Given the description of an element on the screen output the (x, y) to click on. 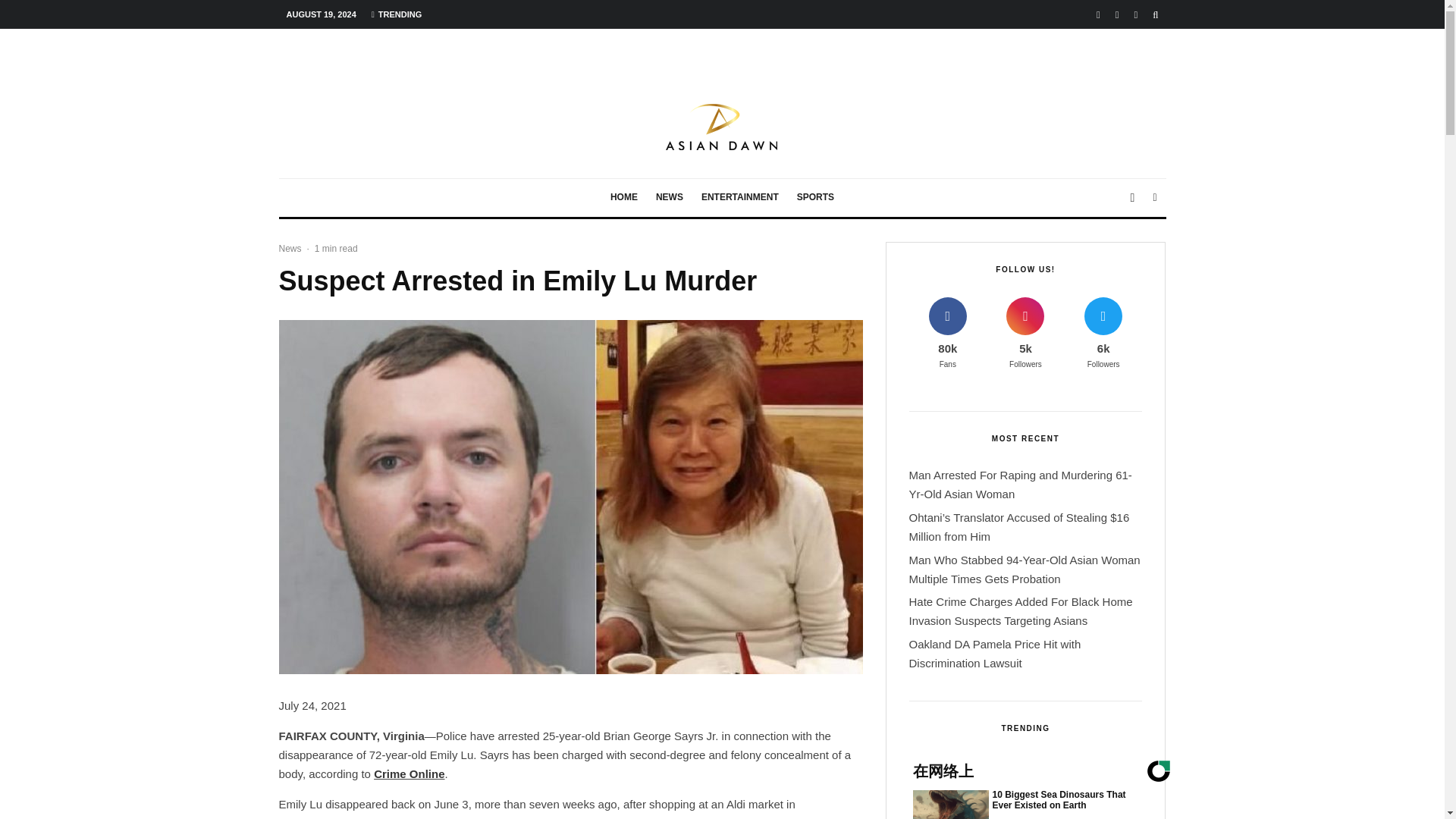
SPORTS (815, 198)
TRENDING (396, 14)
NEWS (669, 198)
ENTERTAINMENT (740, 198)
HOME (623, 198)
